Given the description of an element on the screen output the (x, y) to click on. 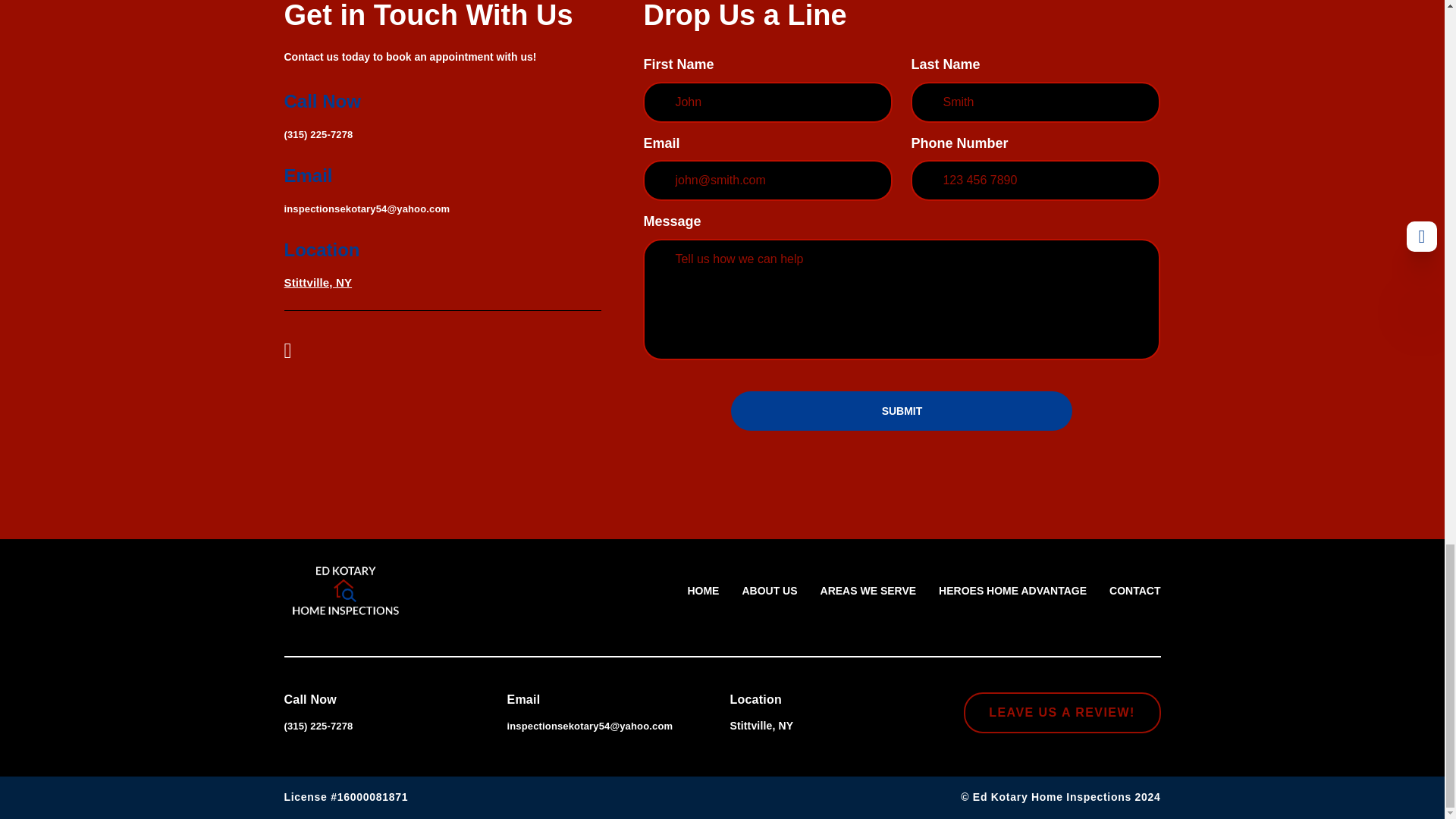
Submit (900, 410)
